Given the description of an element on the screen output the (x, y) to click on. 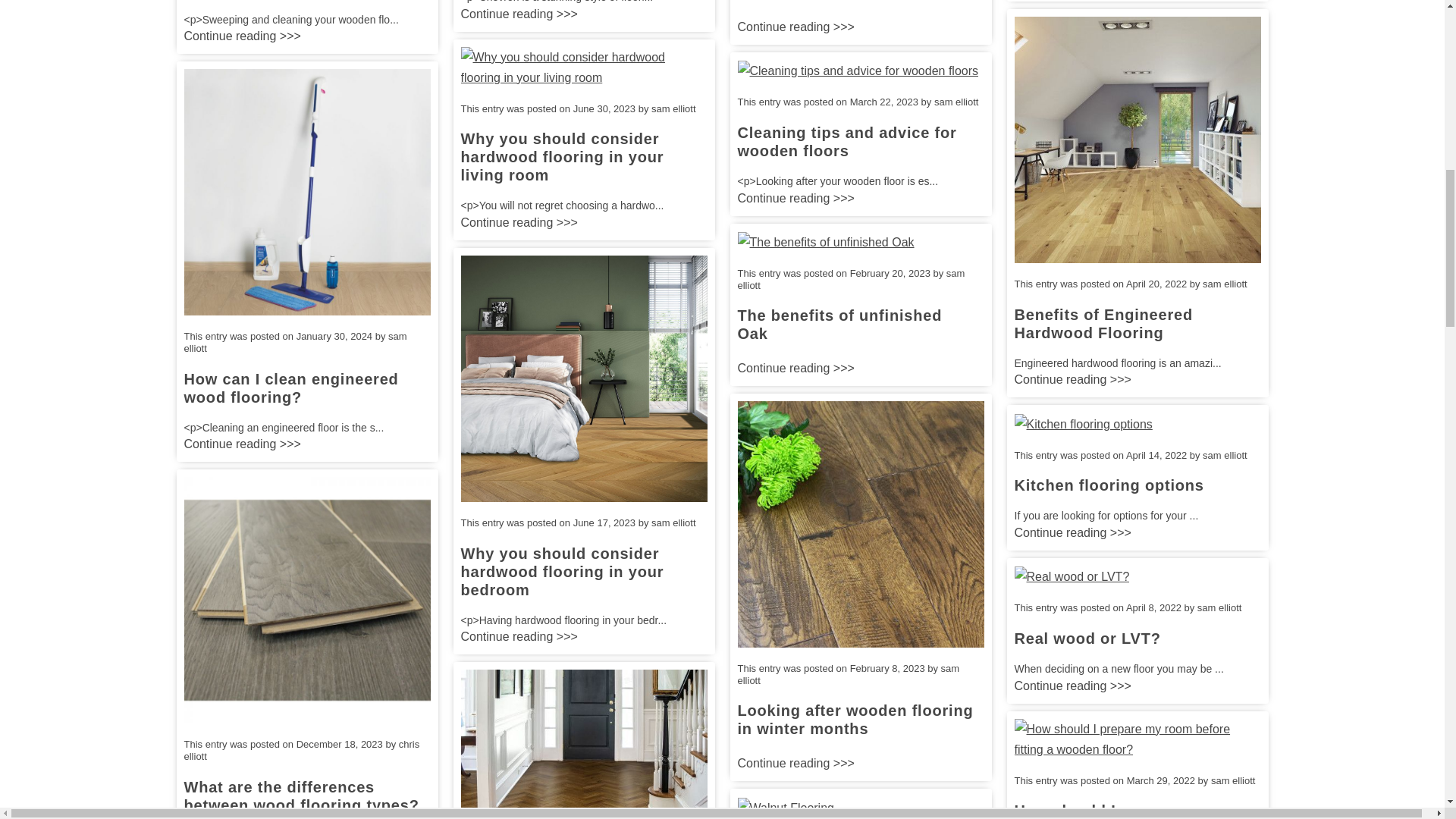
Continue Reading (241, 444)
How can I clean engineered wood flooring? (290, 388)
What are the differences between wood flooring types? (301, 796)
Continue Reading (241, 35)
How can I clean engineered wood flooring? (306, 191)
What are the differences between wood flooring types? (306, 599)
What are the differences between wood flooring types? (301, 796)
How can I clean engineered wood flooring? (290, 388)
